Given the description of an element on the screen output the (x, y) to click on. 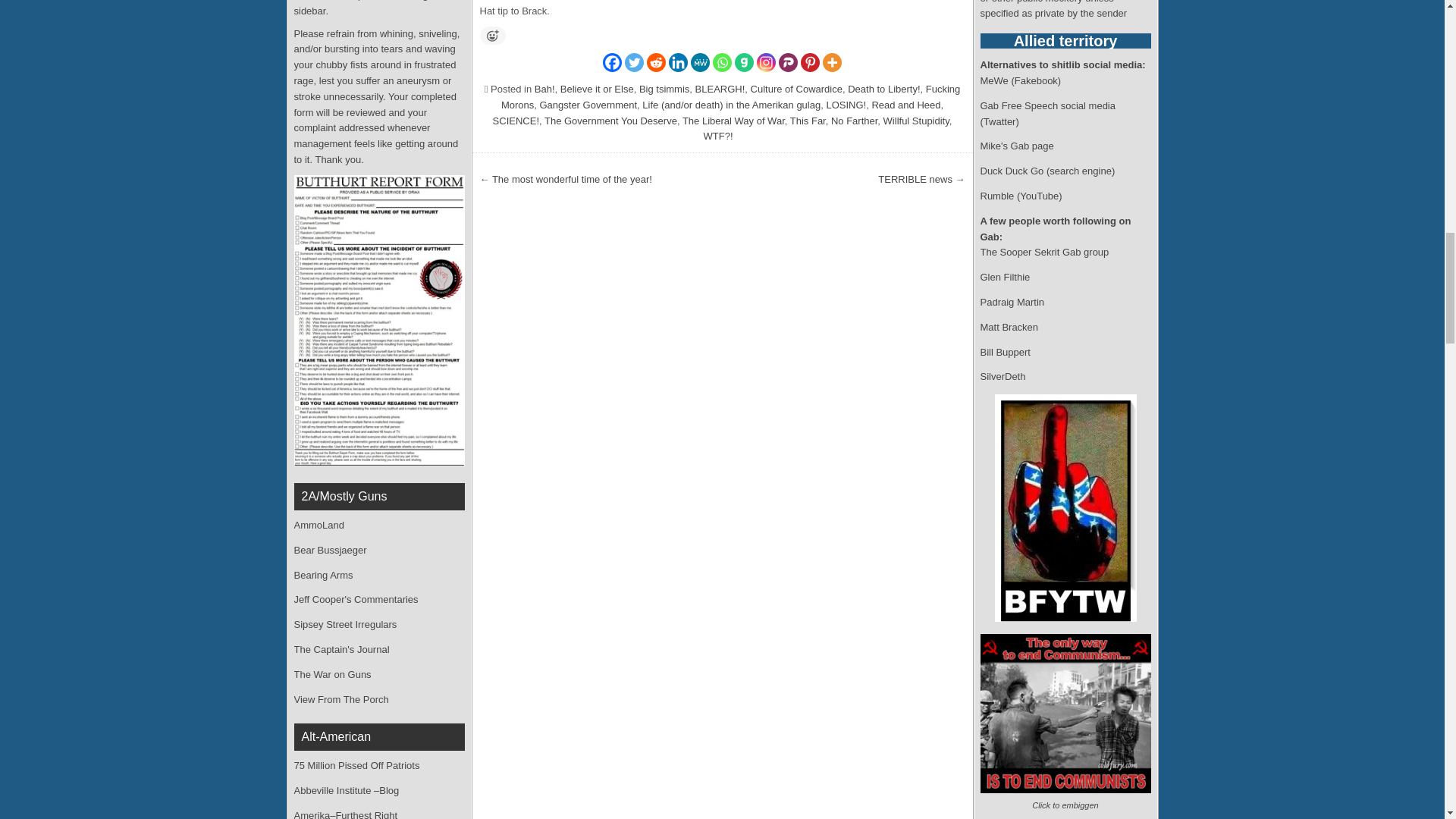
Lots of articles, tutorials, and good deals on ammo (318, 524)
Facebook (611, 62)
Whatsapp (722, 62)
Gab (744, 62)
Reddit (655, 62)
More (831, 62)
MeWe (700, 62)
Pinterest (809, 62)
Twitter (633, 62)
Parler (787, 62)
Linkedin (677, 62)
Instagram (766, 62)
